Given the description of an element on the screen output the (x, y) to click on. 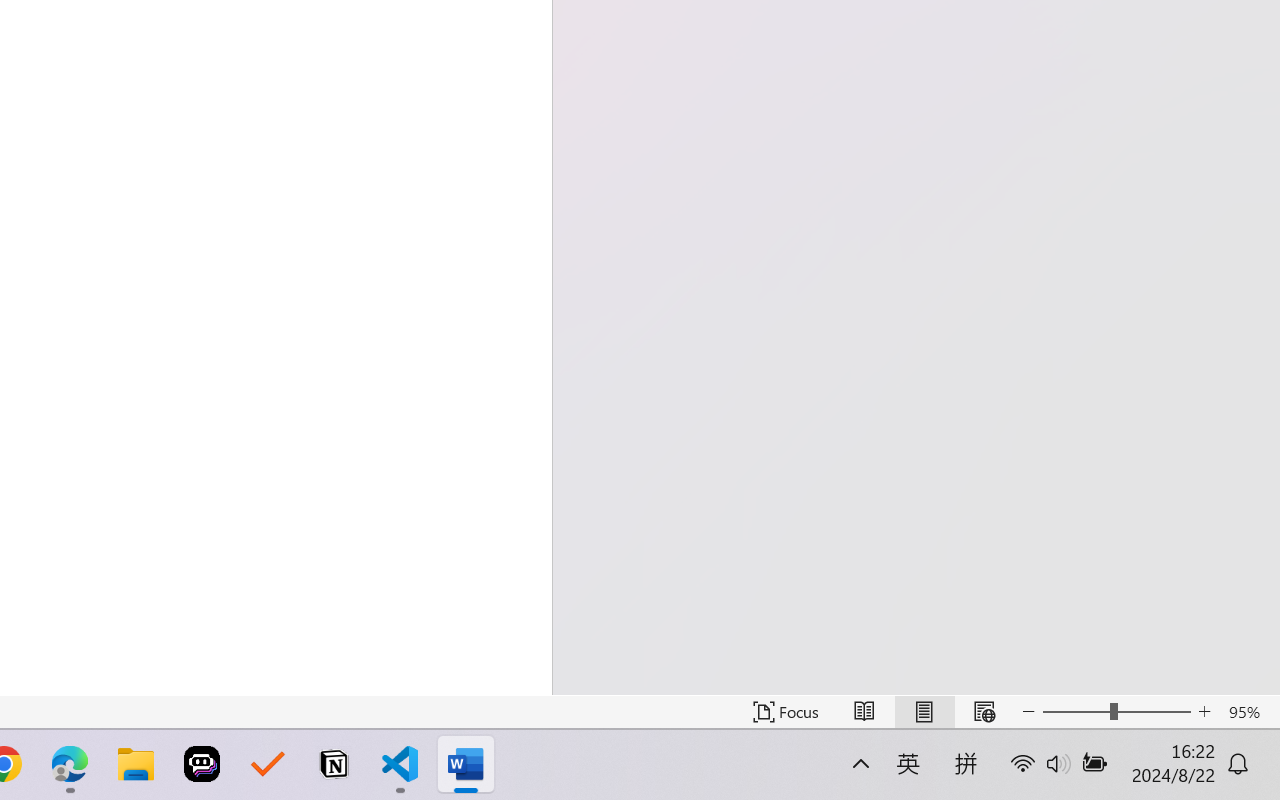
Zoom 95% (1249, 712)
